Given the description of an element on the screen output the (x, y) to click on. 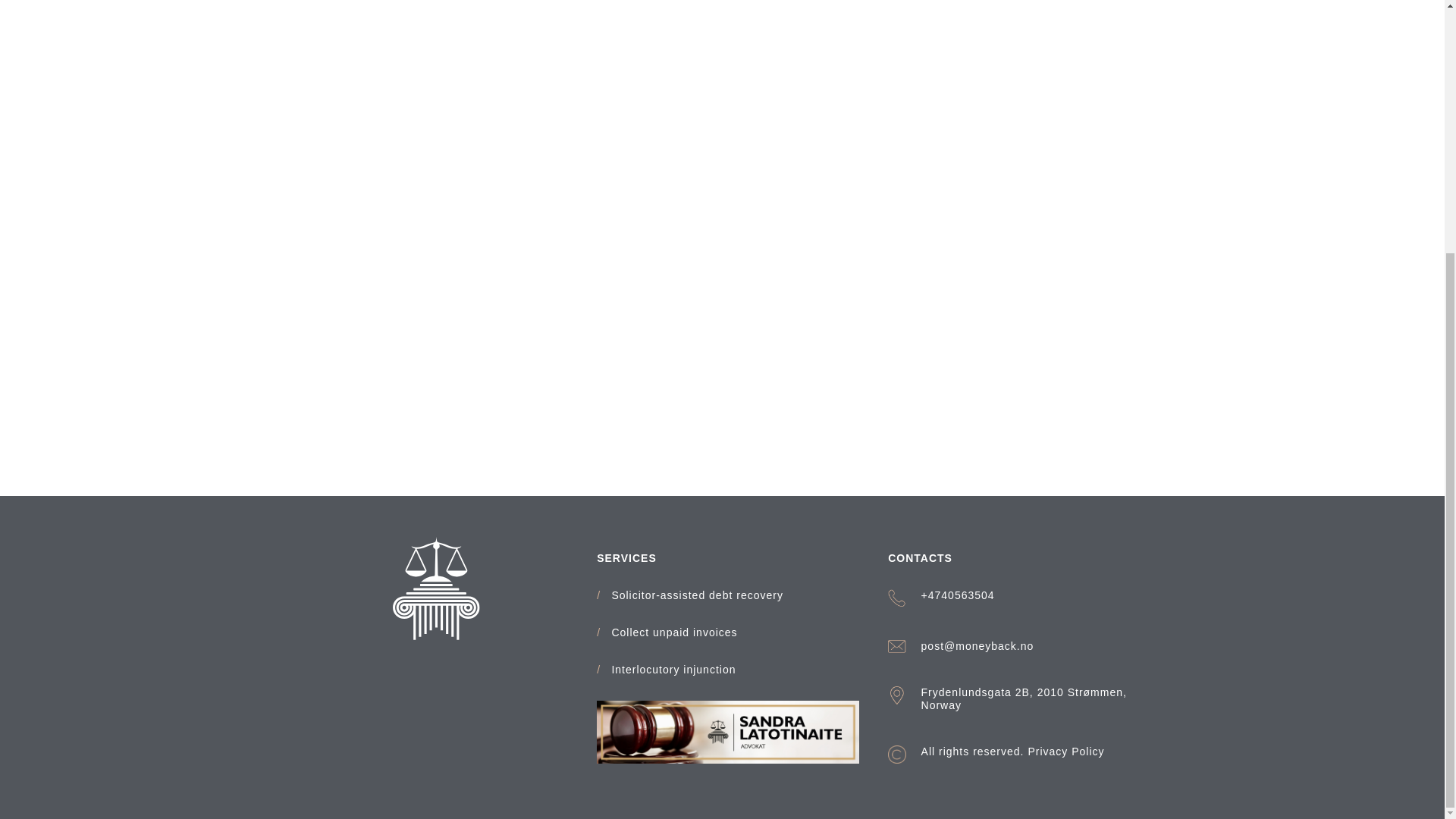
Solicitor-assisted debt recovery (697, 594)
Privacy Policy (1065, 751)
Interlocutory injunction (673, 669)
Collect unpaid invoices (673, 632)
